Given the description of an element on the screen output the (x, y) to click on. 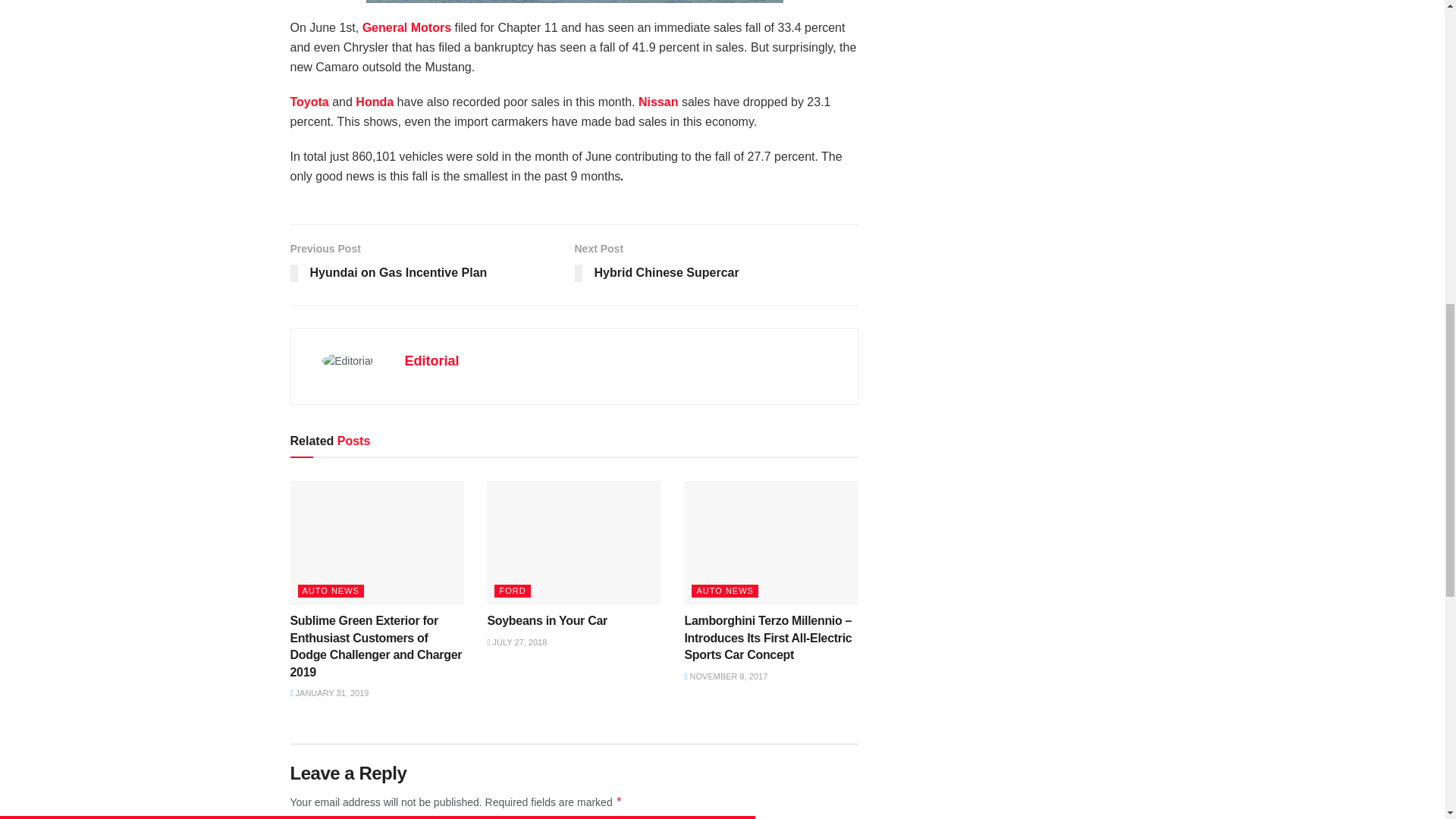
Toyota (309, 101)
Nissan (658, 101)
Genera Motors (406, 27)
Honda (374, 101)
